Given the description of an element on the screen output the (x, y) to click on. 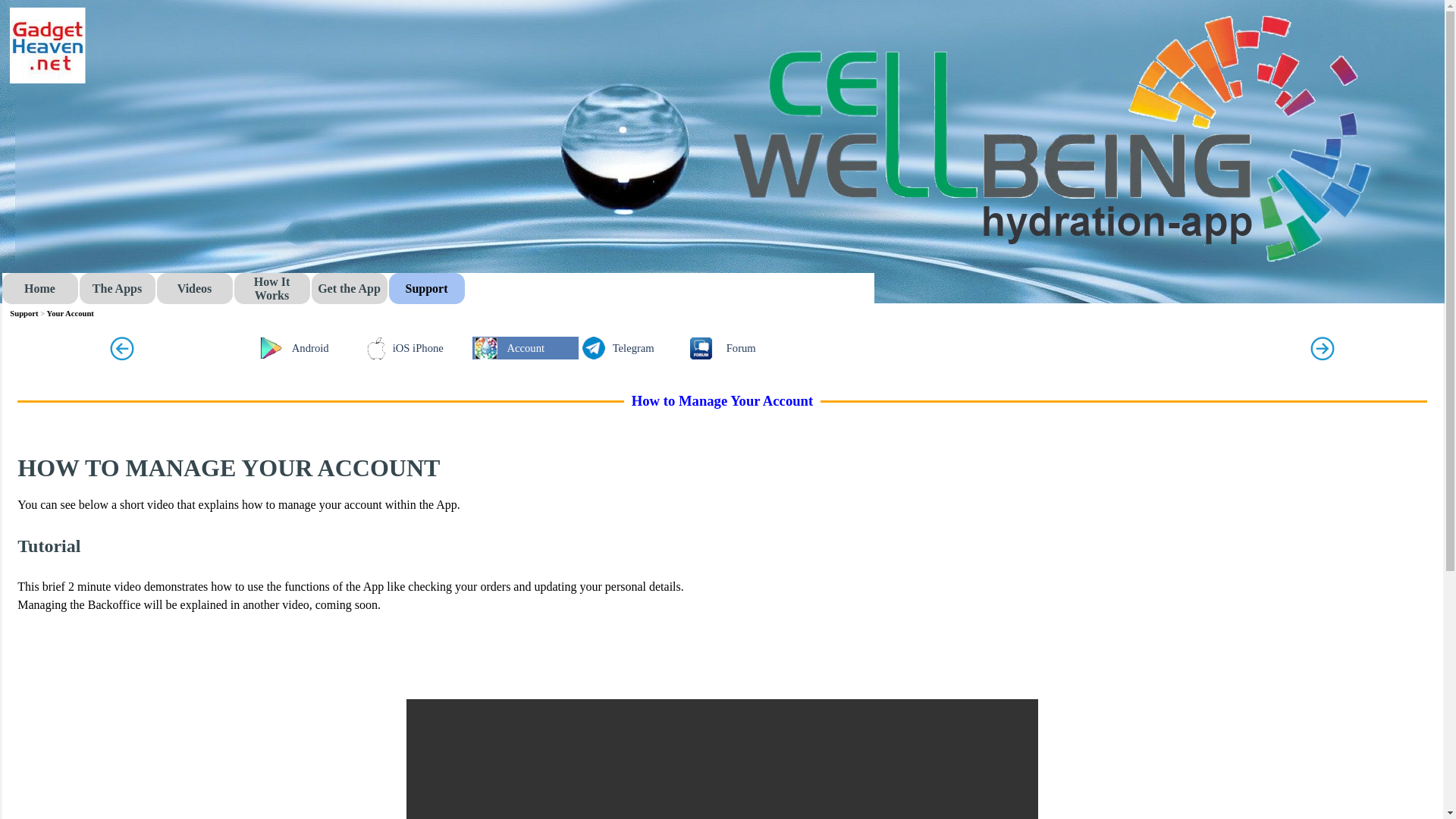
Home (38, 287)
The Apps (116, 287)
Videos (193, 287)
Get the App (349, 287)
GadgetHeaven.net Logo (46, 45)
